Given the description of an element on the screen output the (x, y) to click on. 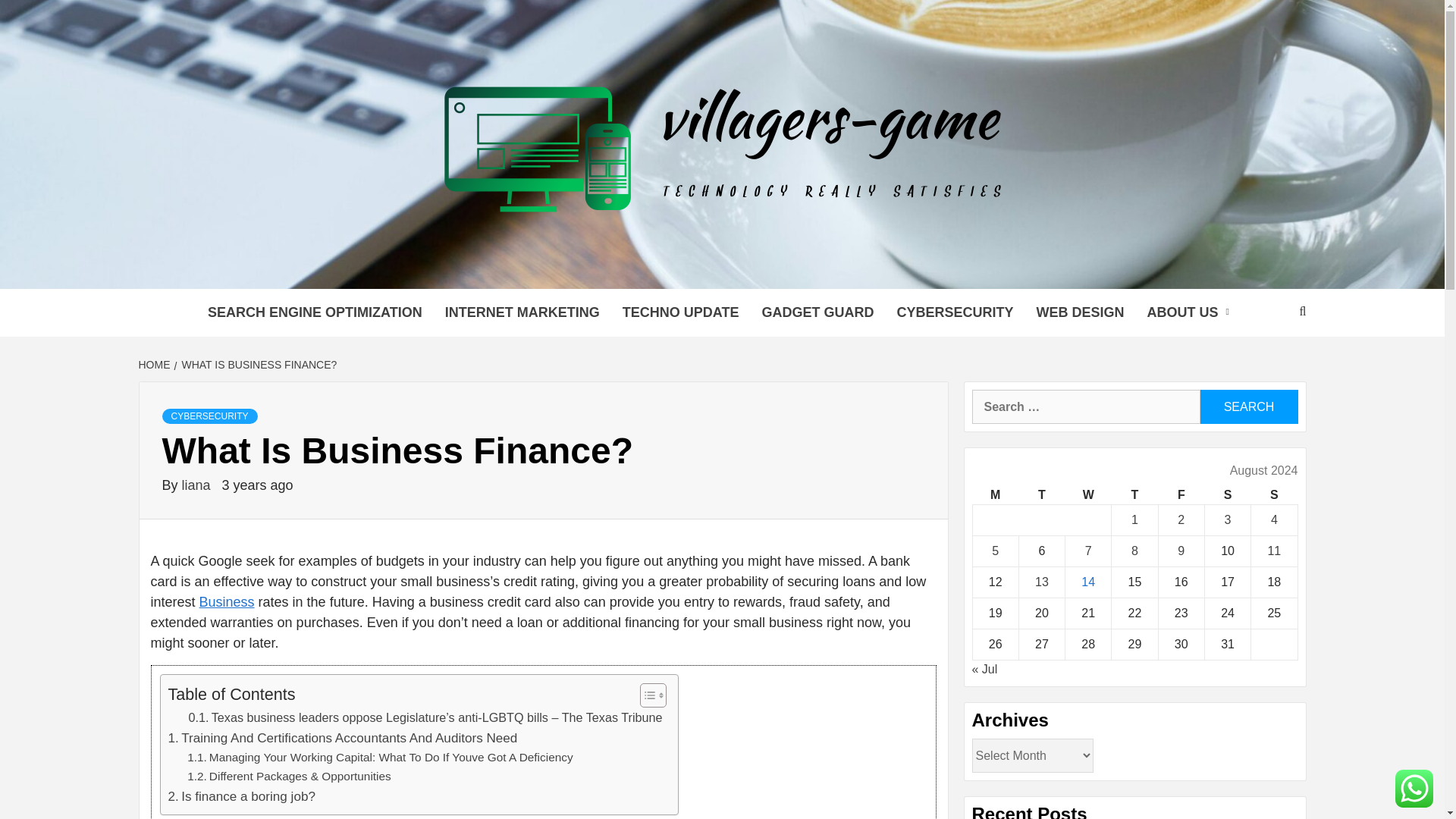
Training And Certifications Accountants And Auditors Need (343, 738)
CYBERSECURITY (209, 416)
Sunday (1273, 495)
Training And Certifications Accountants And Auditors Need (343, 738)
Friday (1180, 495)
TECHNO UPDATE (681, 312)
HOME (155, 364)
INTERNET MARKETING (522, 312)
Tuesday (1040, 495)
ABOUT US (1191, 312)
